Given the description of an element on the screen output the (x, y) to click on. 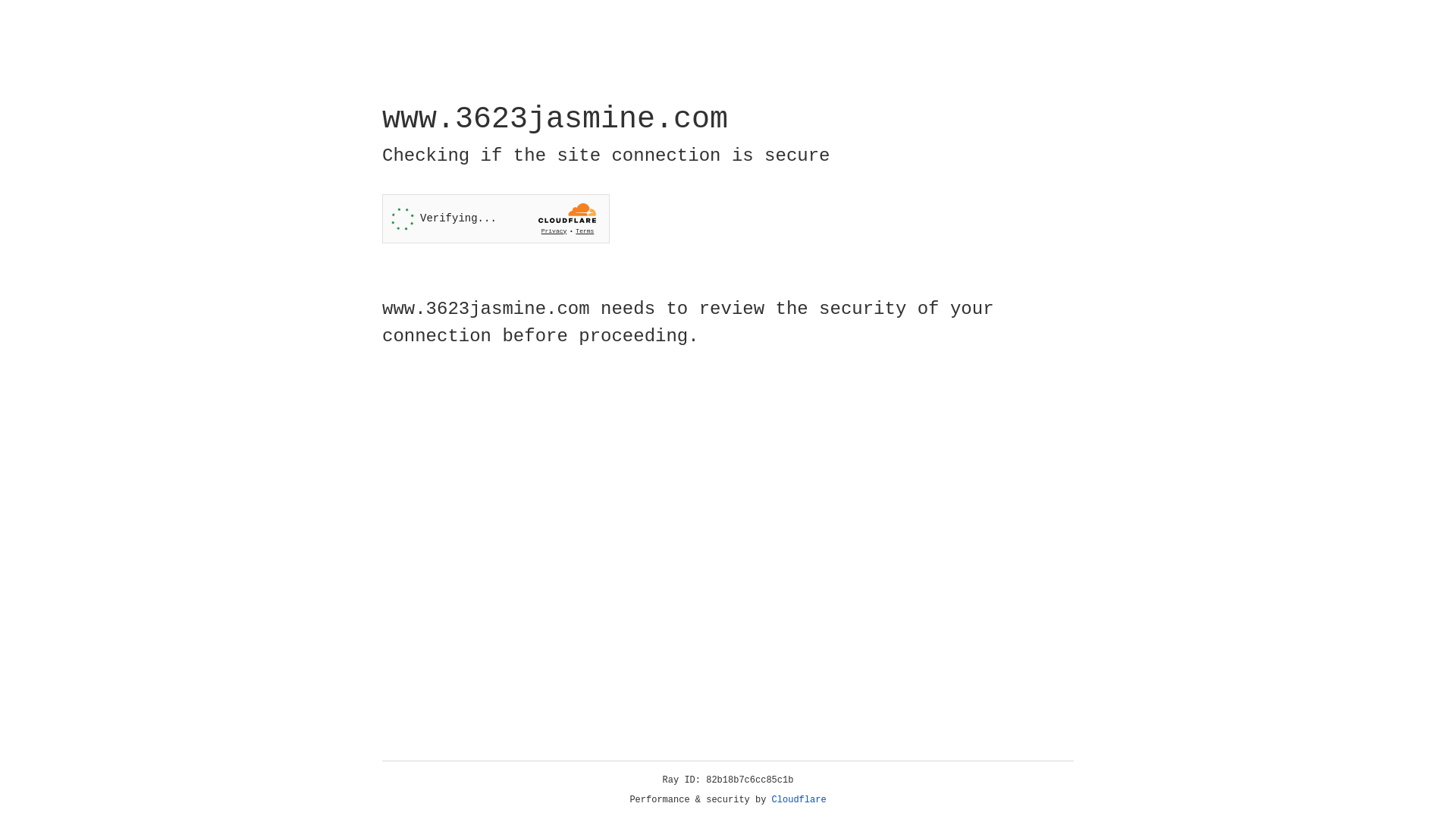
Widget containing a Cloudflare security challenge Element type: hover (495, 218)
Cloudflare Element type: text (798, 799)
